Given the description of an element on the screen output the (x, y) to click on. 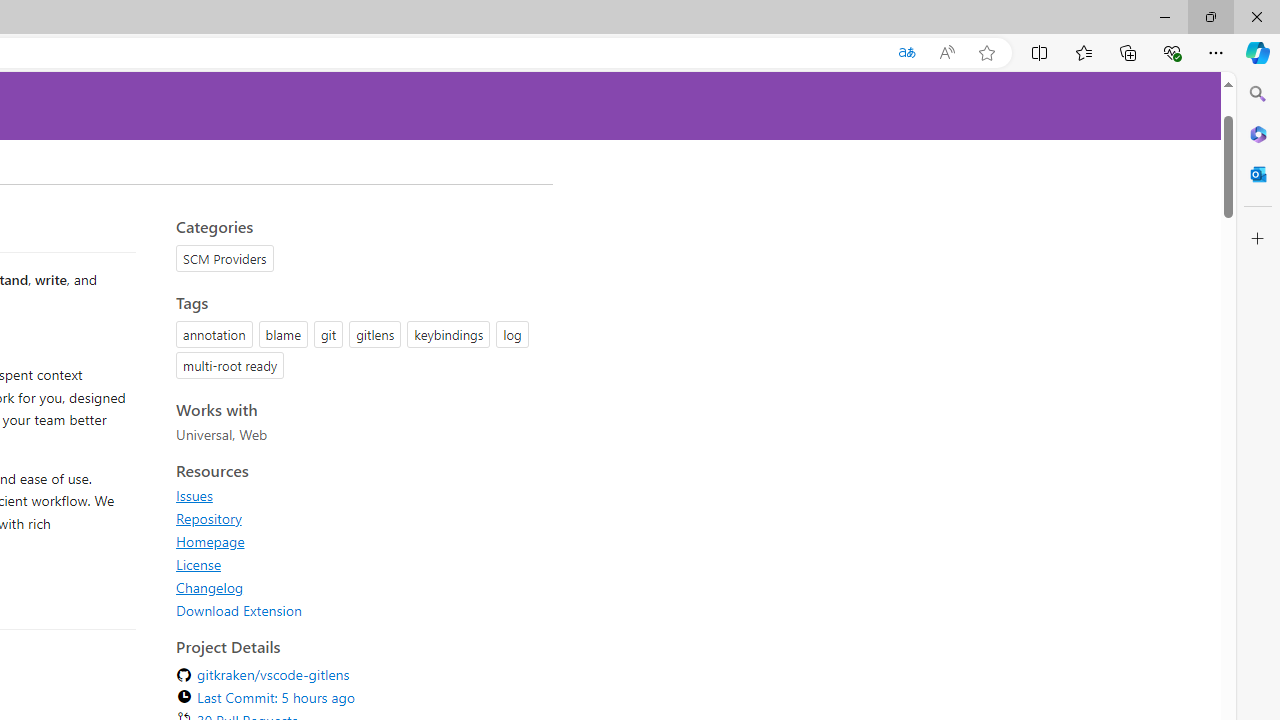
Translated (906, 53)
Repository (208, 518)
